Given the description of an element on the screen output the (x, y) to click on. 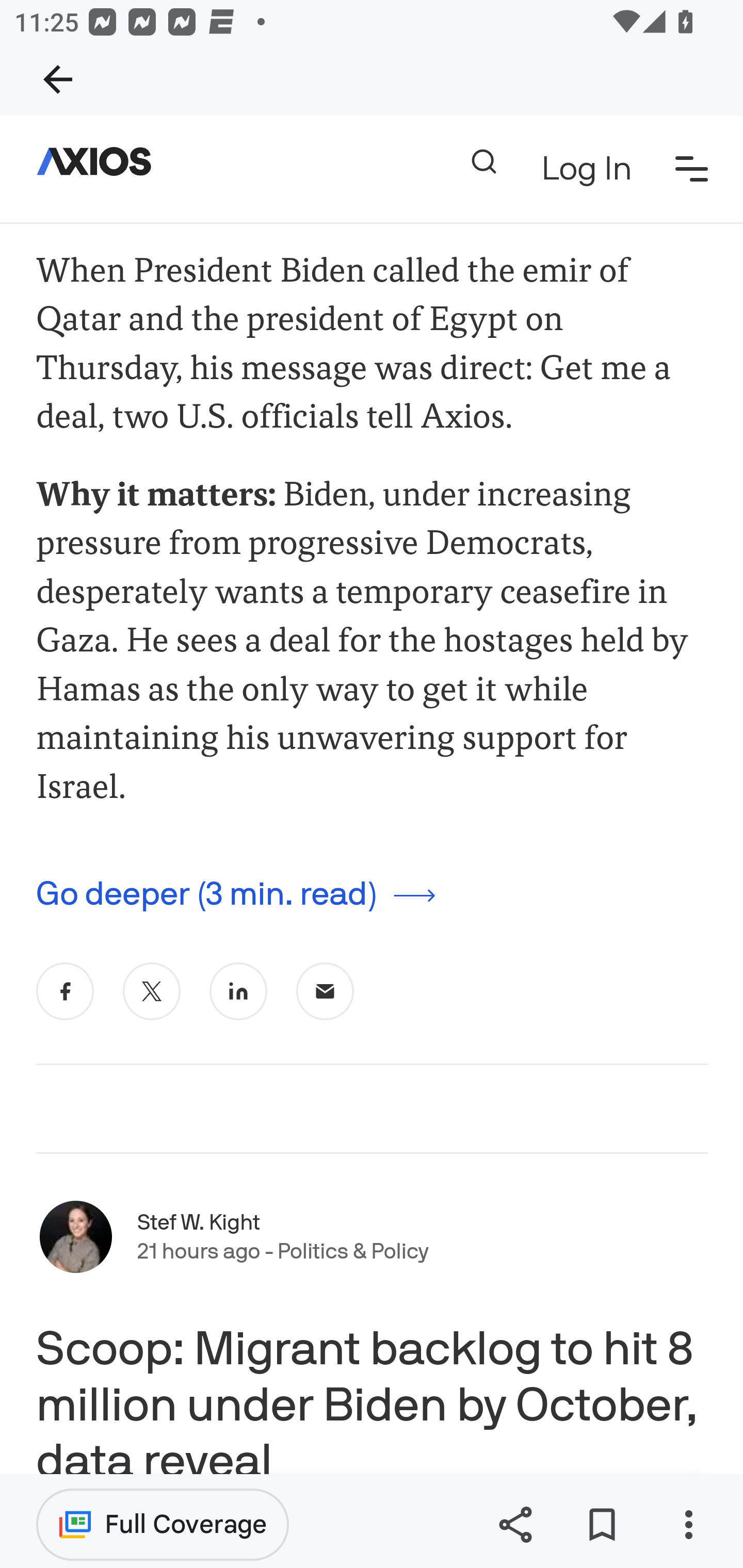
Navigate up (57, 79)
Axios Homepage (101, 161)
Search Page (482, 161)
Log In (586, 169)
Section Menu (692, 168)
Share on facebook (opens in new window) (65, 991)
Share on twitter (opens in new window) (152, 991)
Share on linkedin (opens in new window) (238, 991)
Share on email (opens in new window) (325, 991)
Stef W. Kight (199, 1222)
Politics & Policy (352, 1251)
Share (514, 1524)
Save for later (601, 1524)
More options (688, 1524)
Full Coverage (162, 1524)
